Given the description of an element on the screen output the (x, y) to click on. 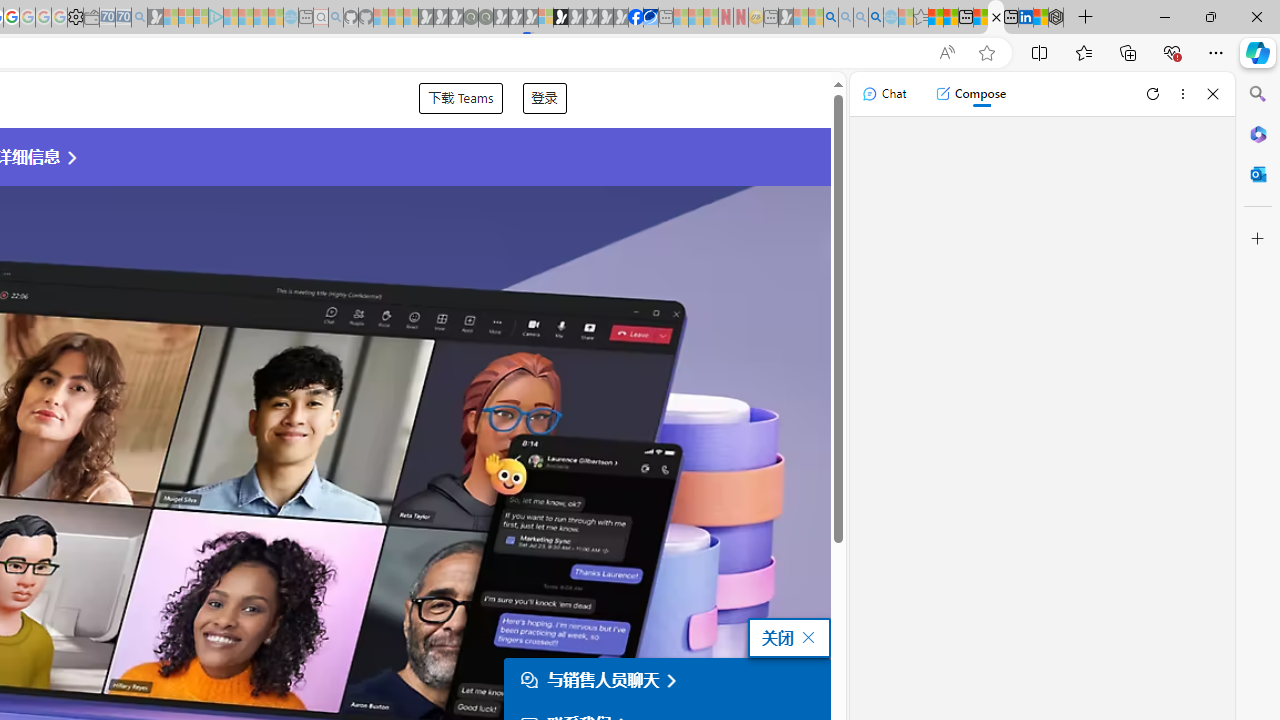
Nordace | Facebook (635, 17)
